Given the description of an element on the screen output the (x, y) to click on. 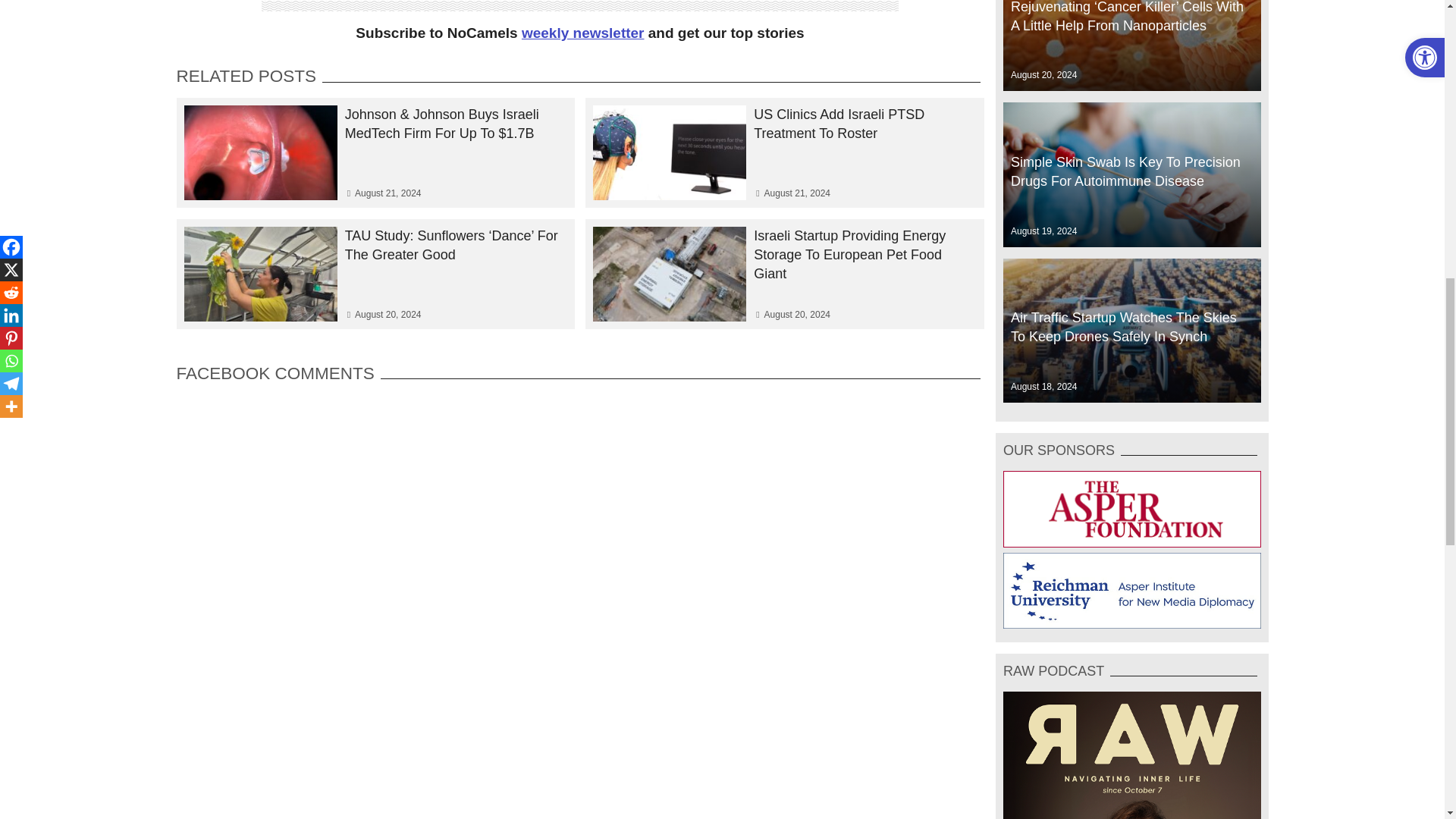
weekly newsletter (583, 32)
US Clinics Add Israeli PTSD Treatment To Roster (784, 124)
